Given the description of an element on the screen output the (x, y) to click on. 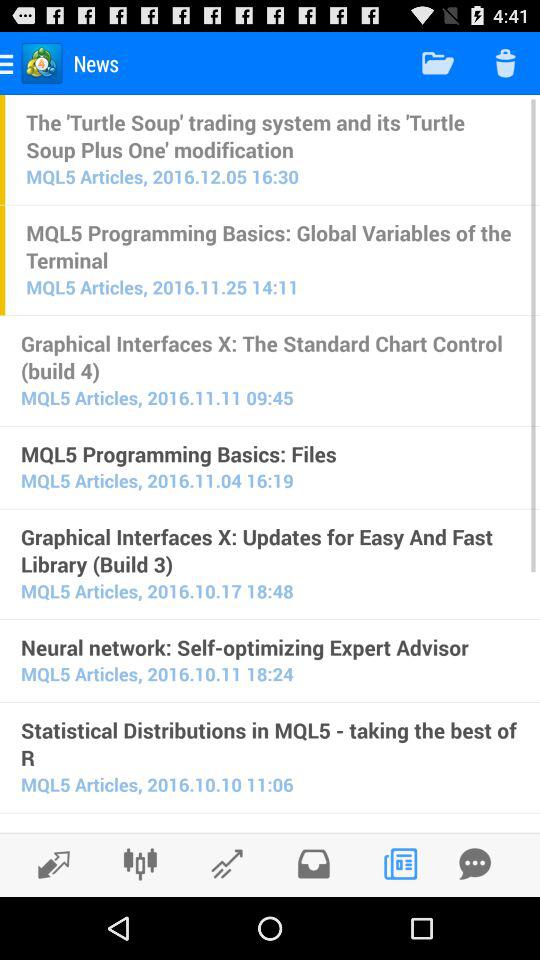
click on the folder icon beside delete icon (437, 62)
